Given the description of an element on the screen output the (x, y) to click on. 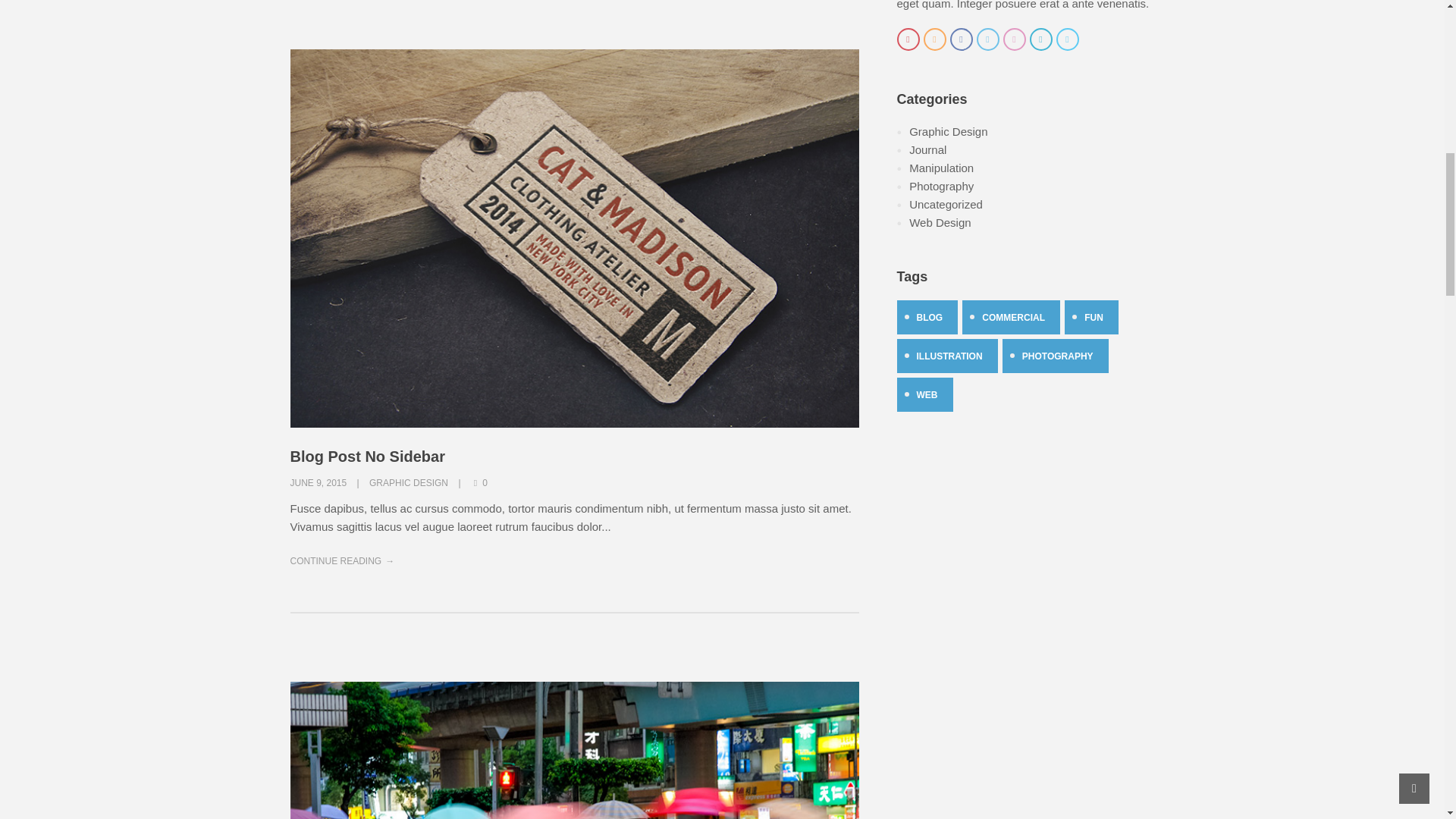
GRAPHIC DESIGN (408, 482)
0 (478, 482)
Blog Post No Sidebar (366, 456)
CONTINUE READING (341, 561)
